Given the description of an element on the screen output the (x, y) to click on. 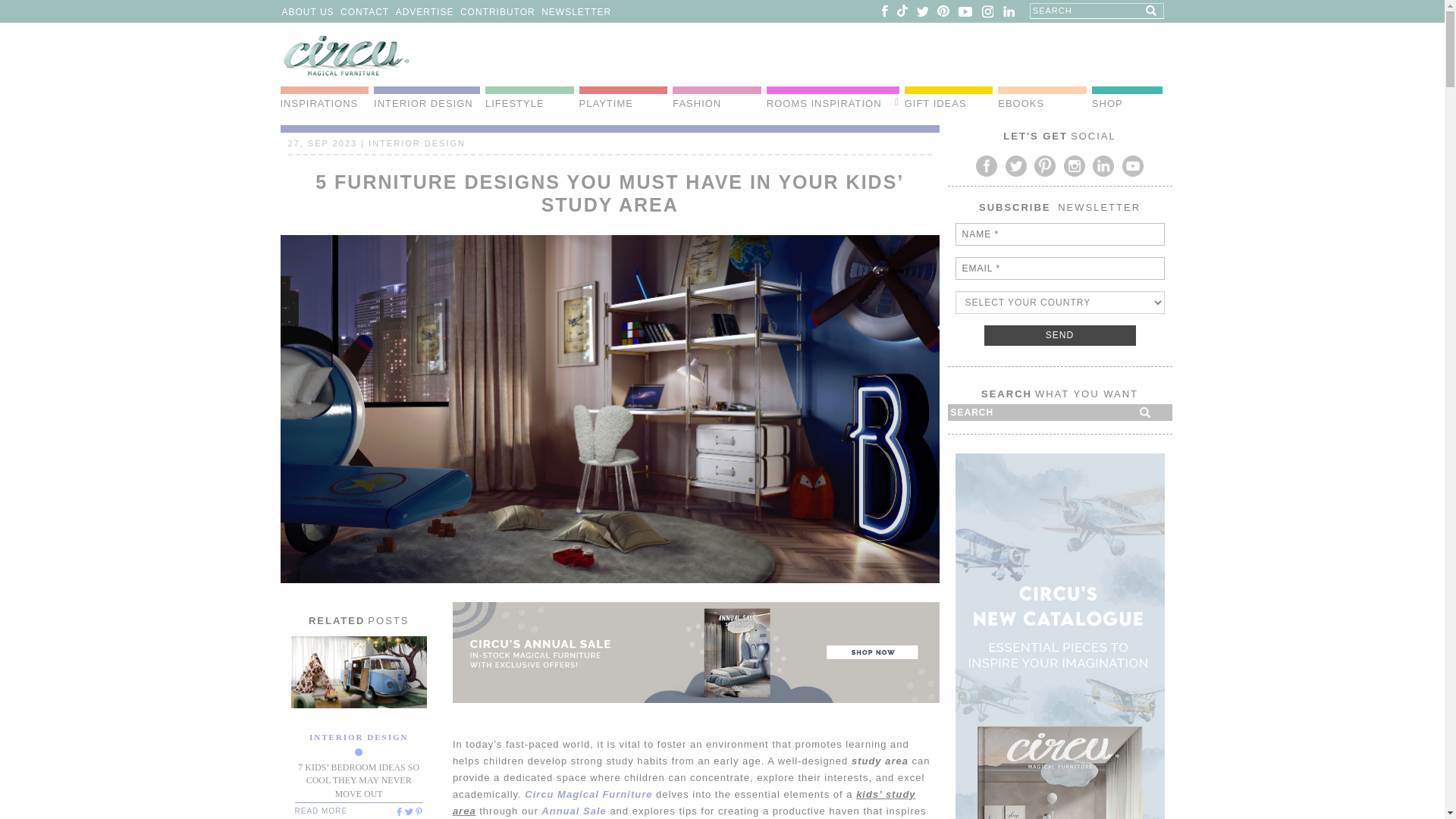
SEND (1059, 335)
circudesign (398, 810)
Search for: (1096, 10)
circudesign (408, 810)
